Given the description of an element on the screen output the (x, y) to click on. 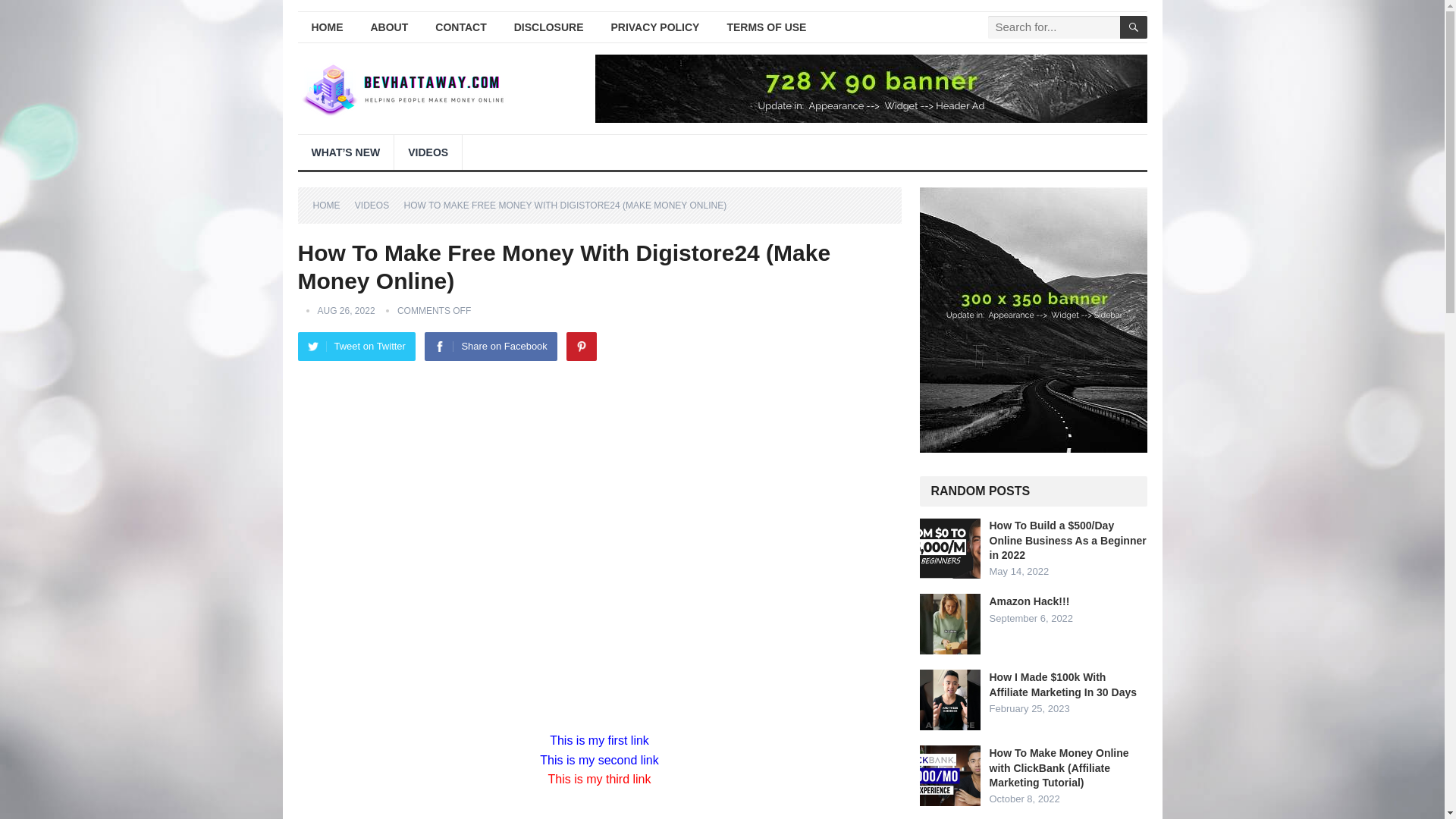
DISCLOSURE (548, 27)
VIDEOS (427, 152)
Pinterest (581, 346)
ABOUT (389, 27)
View all posts in Videos (376, 204)
This is my first link (599, 739)
TERMS OF USE (766, 27)
Share on Facebook (490, 346)
CONTACT (460, 27)
VIDEOS (376, 204)
